Given the description of an element on the screen output the (x, y) to click on. 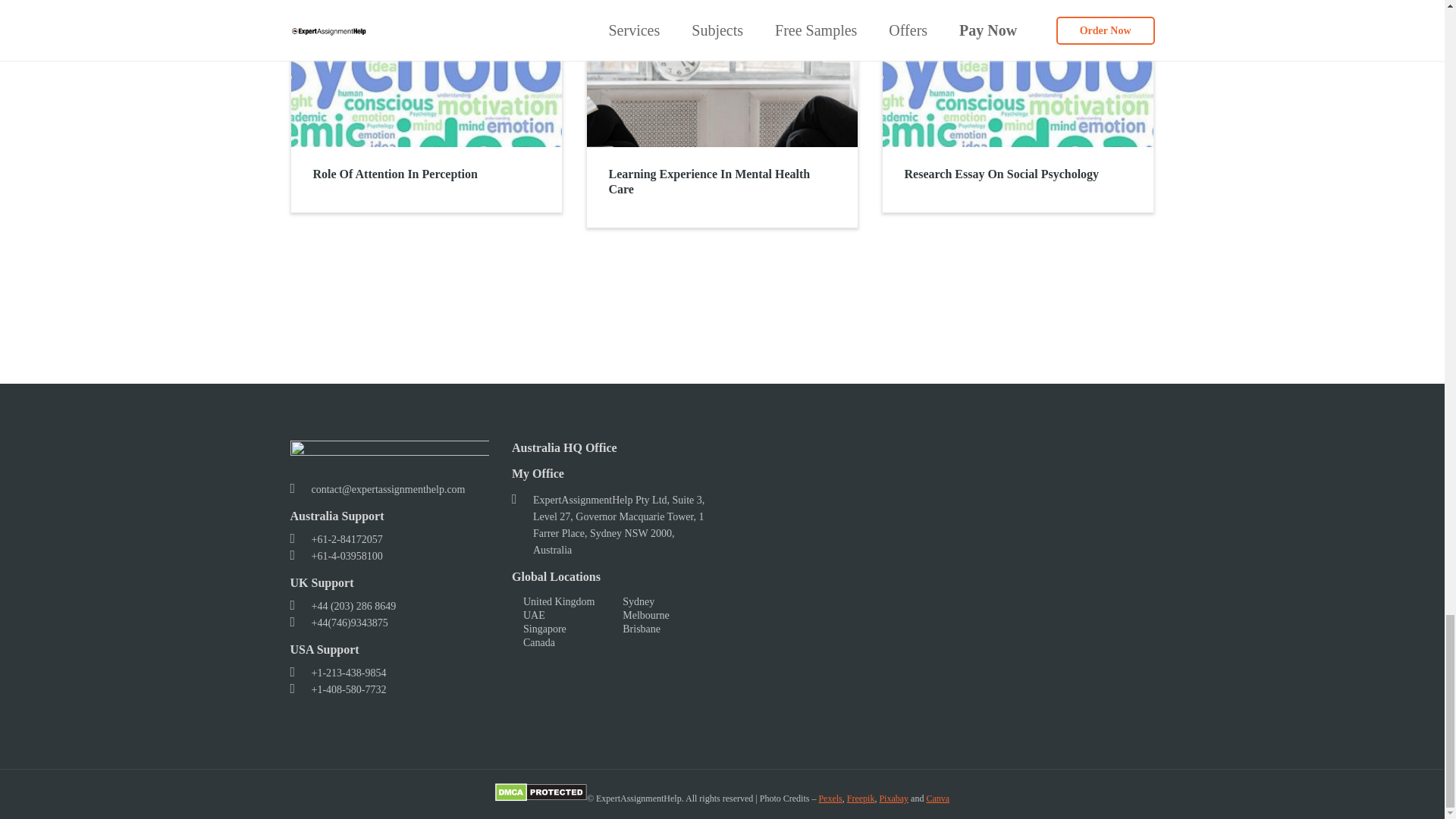
DMCA.com Protection Status (540, 798)
